Given the description of an element on the screen output the (x, y) to click on. 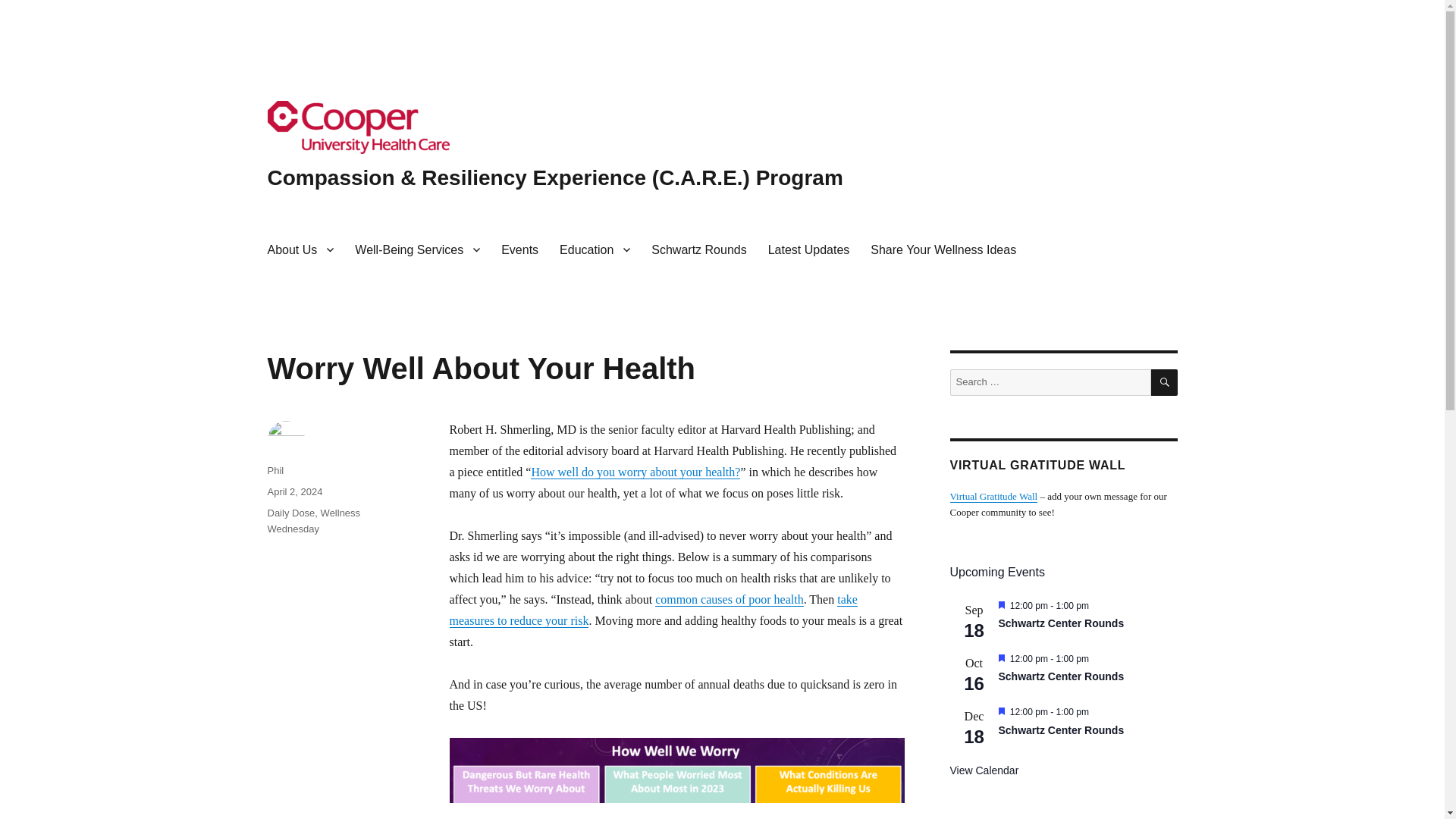
Education (594, 249)
Schwartz Center Rounds (1060, 730)
About Us (299, 249)
Events (519, 249)
Well-Being Services (416, 249)
Schwartz Center Rounds (1060, 676)
View more events. (983, 770)
Schwartz Center Rounds (1060, 623)
